Given the description of an element on the screen output the (x, y) to click on. 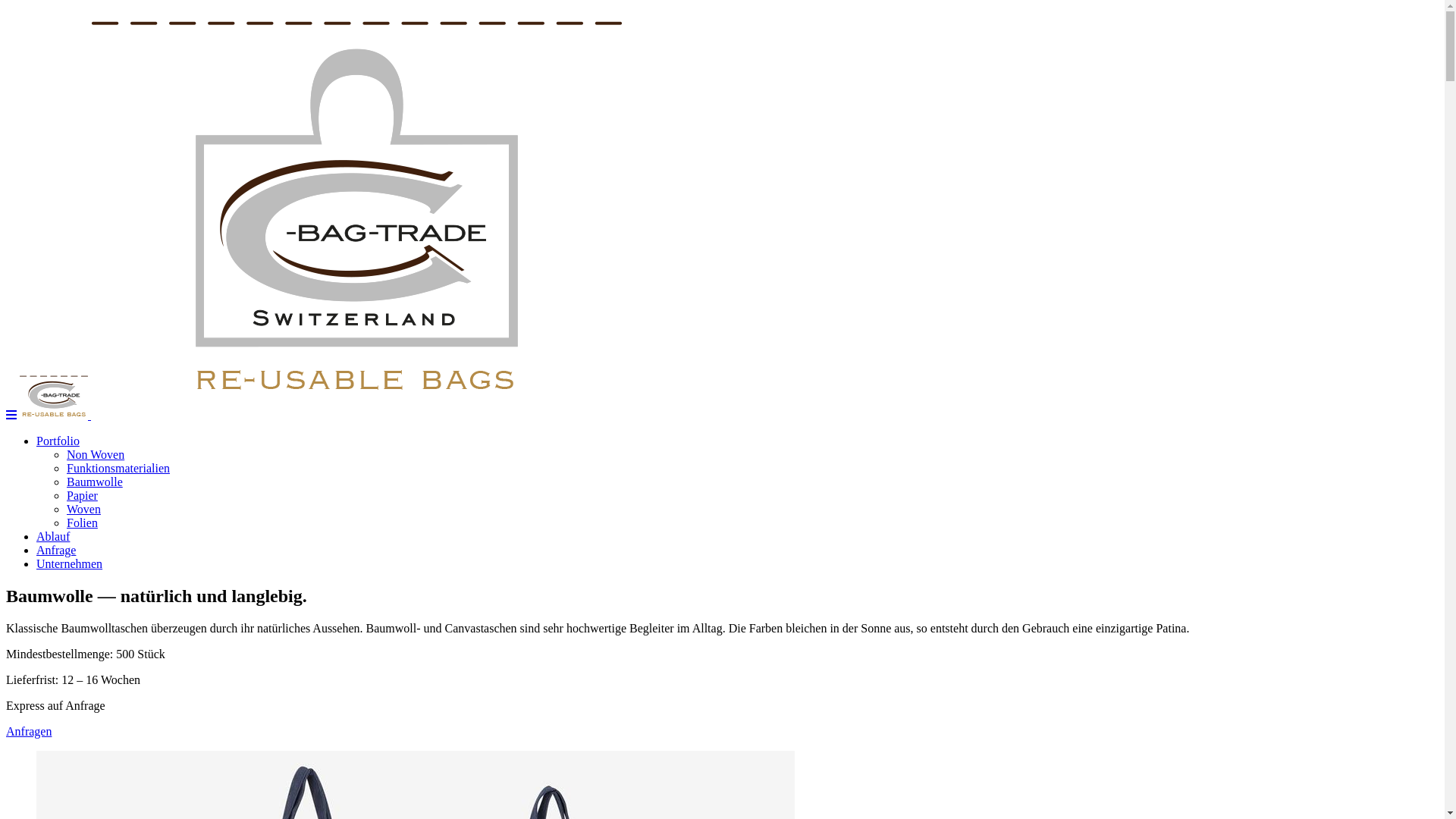
Unternehmen Element type: text (69, 563)
Non Woven Element type: text (95, 454)
Anfragen Element type: text (28, 730)
Ablauf Element type: text (52, 536)
Baumwolle Element type: text (94, 481)
Folien Element type: text (81, 522)
Papier Element type: text (81, 495)
Anfrage Element type: text (55, 549)
Woven Element type: text (83, 508)
Funktionsmaterialien Element type: text (117, 467)
Portfolio Element type: text (57, 440)
